Given the description of an element on the screen output the (x, y) to click on. 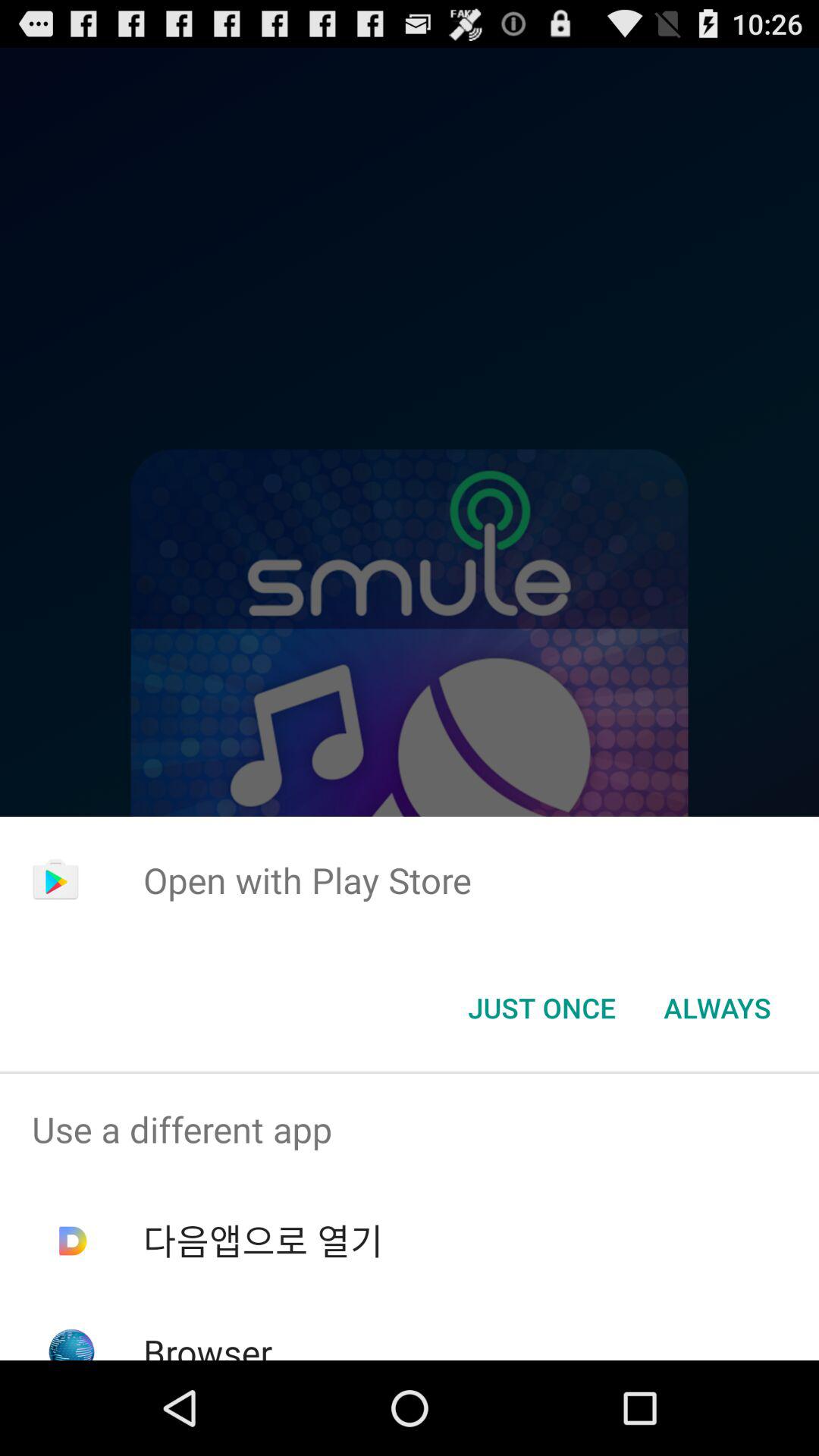
open the app below the open with play app (541, 1007)
